Given the description of an element on the screen output the (x, y) to click on. 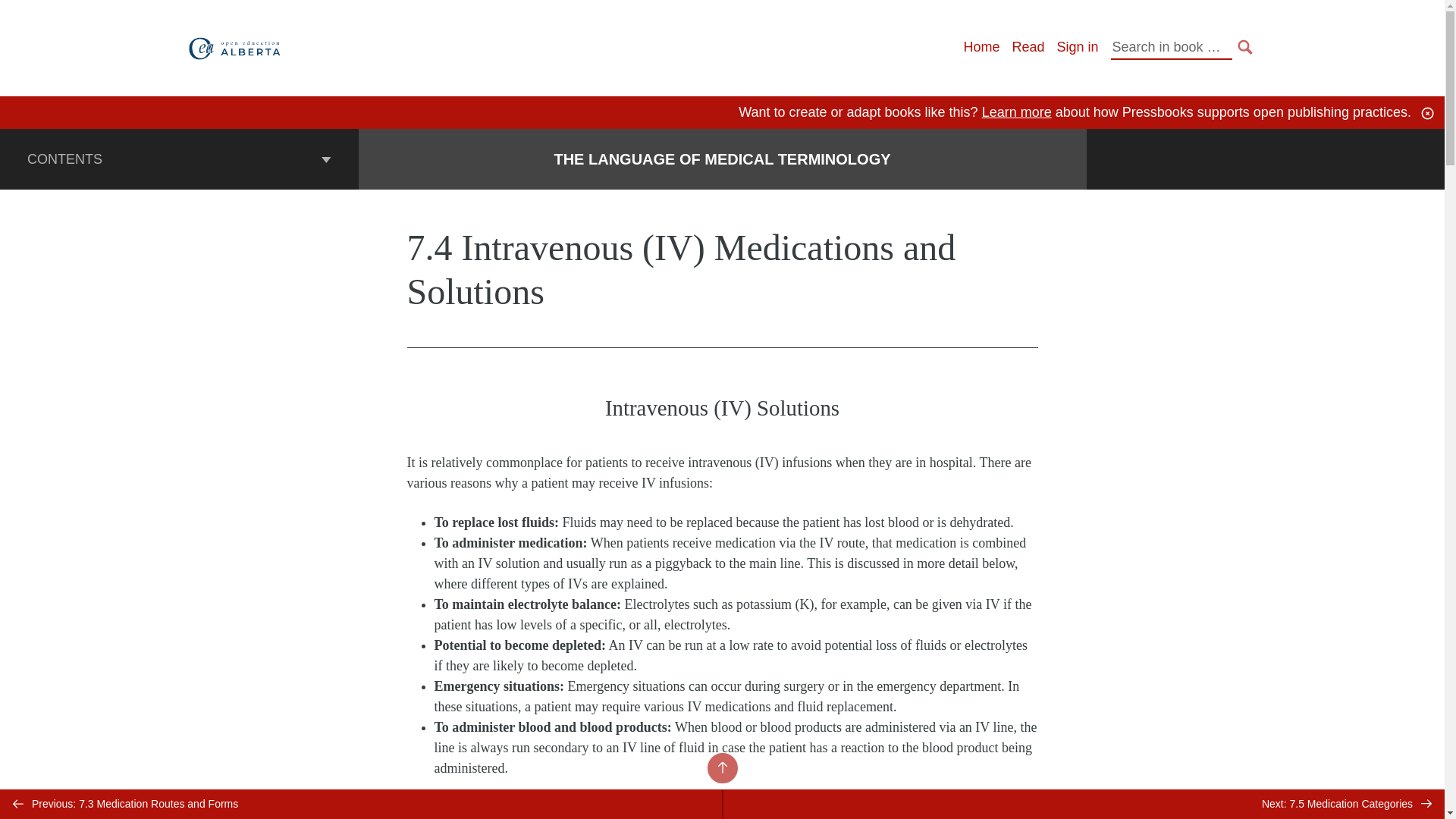
BACK TO TOP (721, 767)
Home (980, 46)
THE LANGUAGE OF MEDICAL TERMINOLOGY (721, 159)
Read (1027, 46)
CONTENTS (178, 158)
Learn more (1016, 111)
Sign in (1077, 46)
Previous: 7.3 Medication Routes and Forms (361, 804)
Previous: 7.3 Medication Routes and Forms (361, 804)
SEARCH (1244, 47)
